Given the description of an element on the screen output the (x, y) to click on. 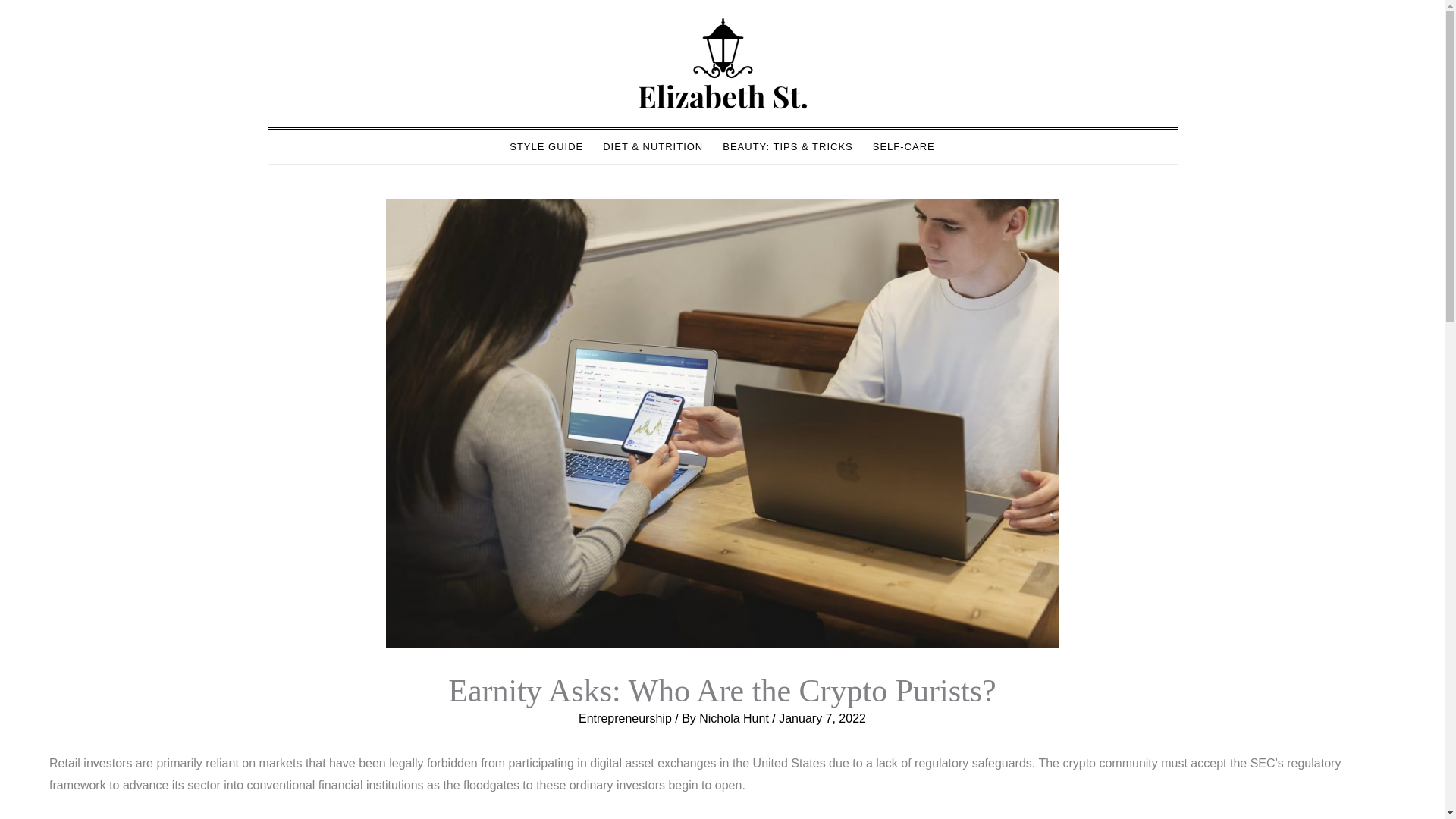
STYLE GUIDE (545, 146)
View all posts by Nichola Hunt (734, 717)
Entrepreneurship (624, 717)
SELF-CARE (903, 146)
Nichola Hunt (734, 717)
